Given the description of an element on the screen output the (x, y) to click on. 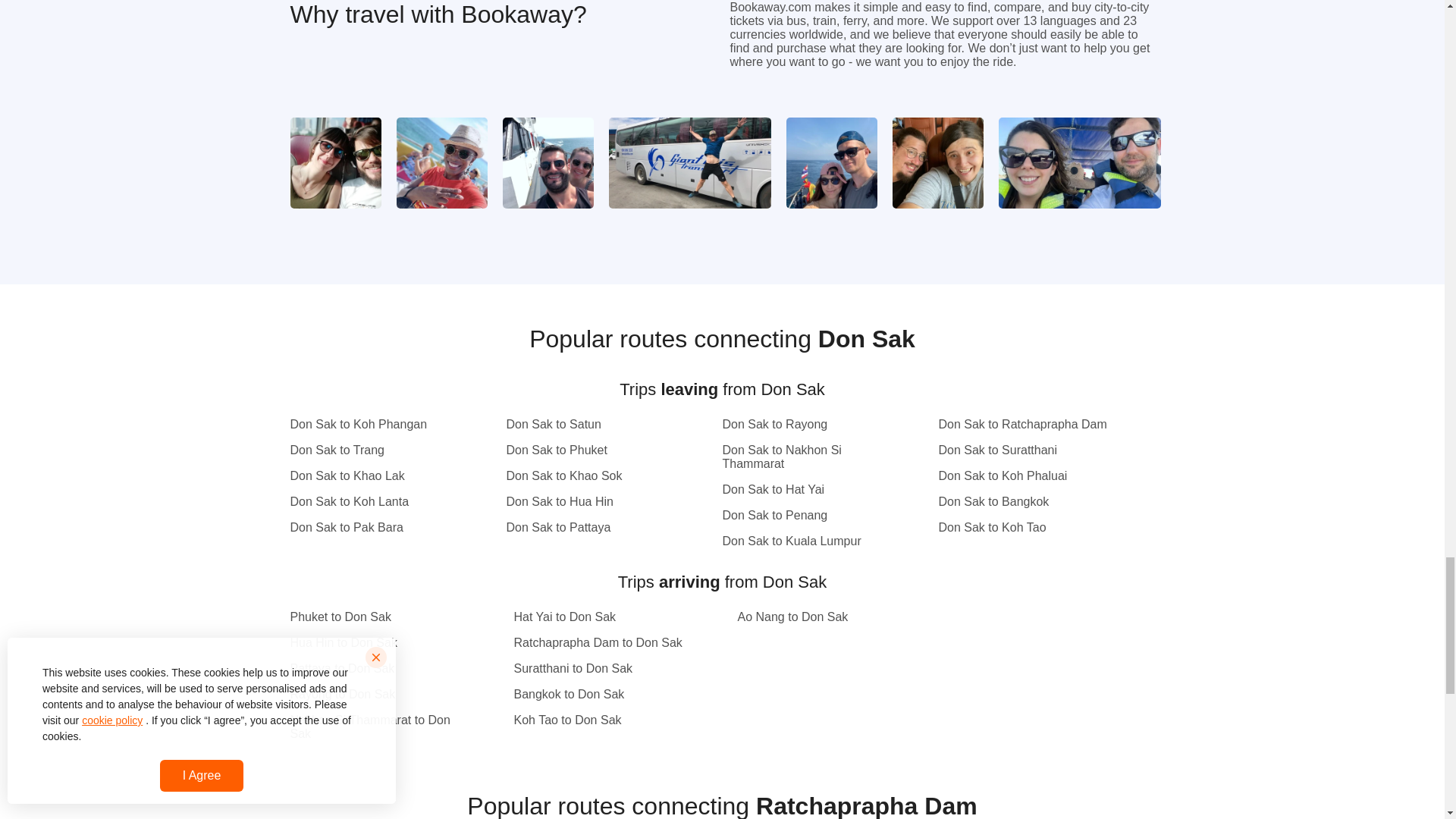
Don Sak to Khao Sok (591, 476)
Don Sak to Koh Lanta (374, 501)
Don Sak to Satun (591, 424)
Don Sak to Trang (374, 450)
Don Sak to Rayong (807, 424)
Don Sak to Hua Hin (591, 501)
Don Sak to Koh Phangan (374, 424)
Don Sak to Pak Bara (374, 527)
Don Sak to Khao Lak (374, 476)
Don Sak to Phuket (591, 450)
Don Sak to Pattaya (591, 527)
